Given the description of an element on the screen output the (x, y) to click on. 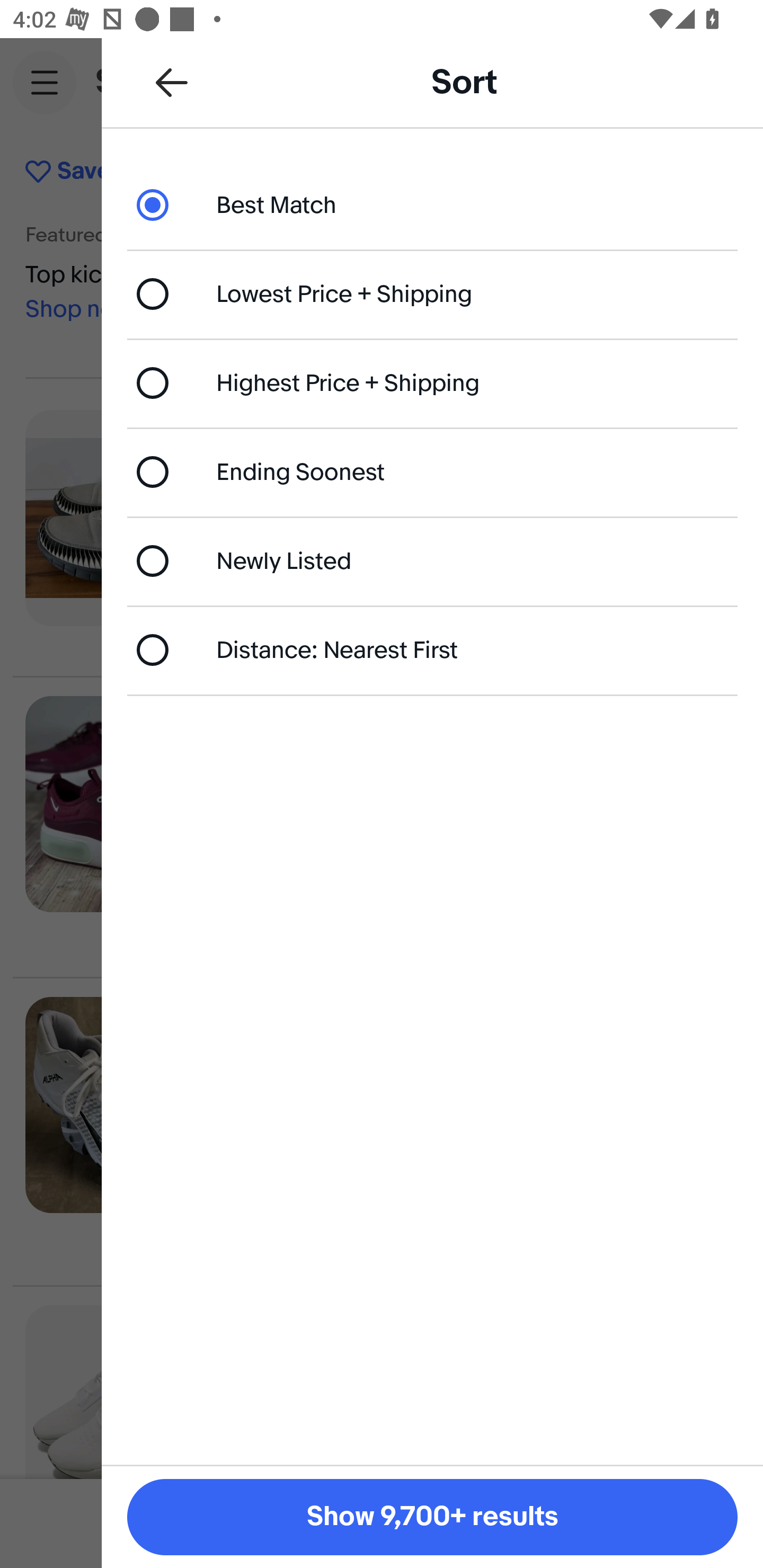
Back to all refinements (171, 81)
Best Match - currently selected Best Match (432, 204)
Lowest Price + Shipping (432, 293)
Highest Price + Shipping (432, 383)
Ending Soonest (432, 471)
Newly Listed (432, 560)
Distance: Nearest First (432, 649)
Show 9,700+ results (432, 1516)
